Given the description of an element on the screen output the (x, y) to click on. 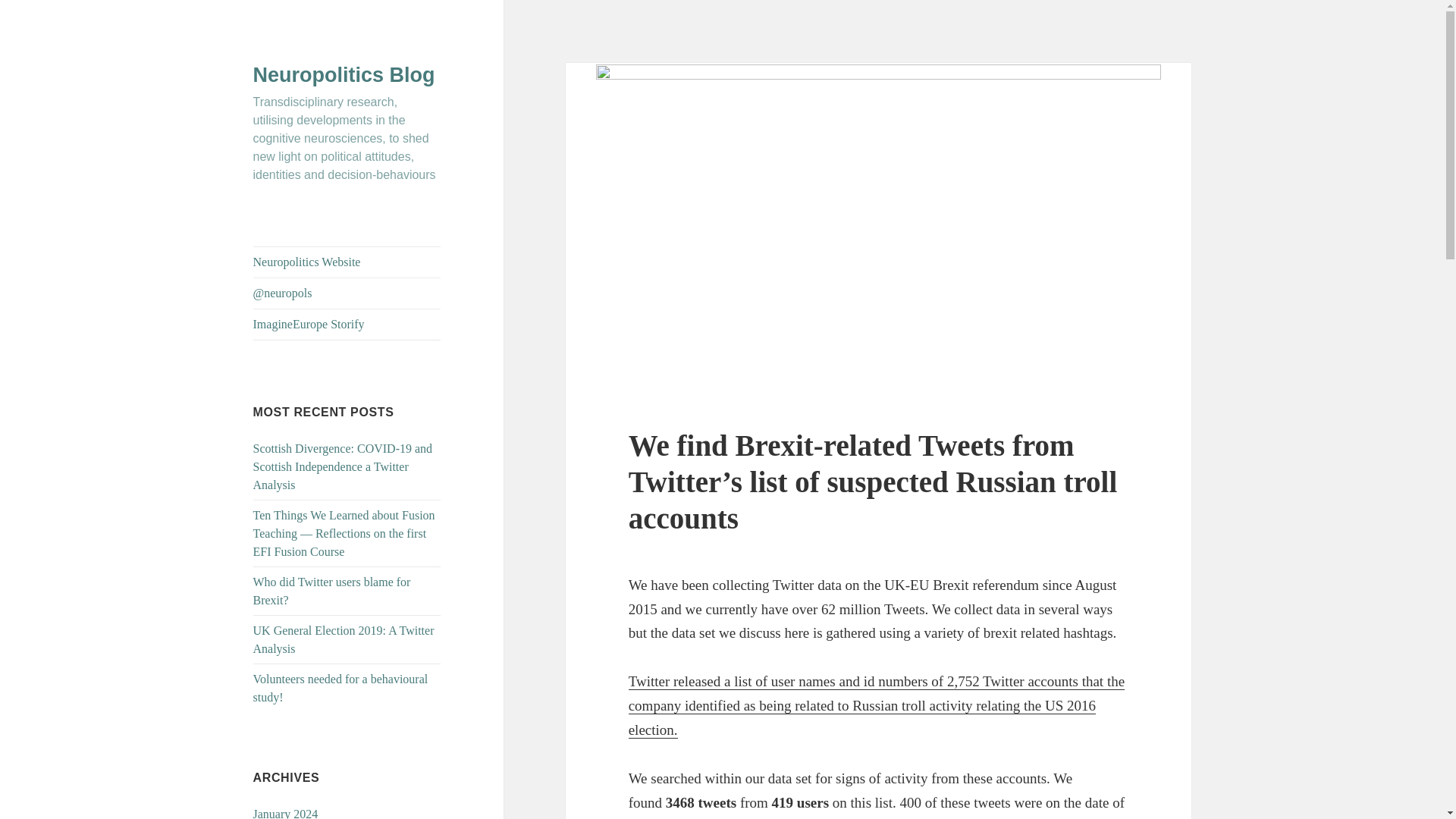
UK General Election 2019: A Twitter Analysis (343, 639)
ImagineEurope Storify (347, 324)
Who did Twitter users blame for Brexit? (331, 590)
Neuropolitics Website (347, 262)
Neuropolitics Blog (344, 74)
Volunteers needed for a behavioural study! (340, 687)
January 2024 (285, 813)
